Given the description of an element on the screen output the (x, y) to click on. 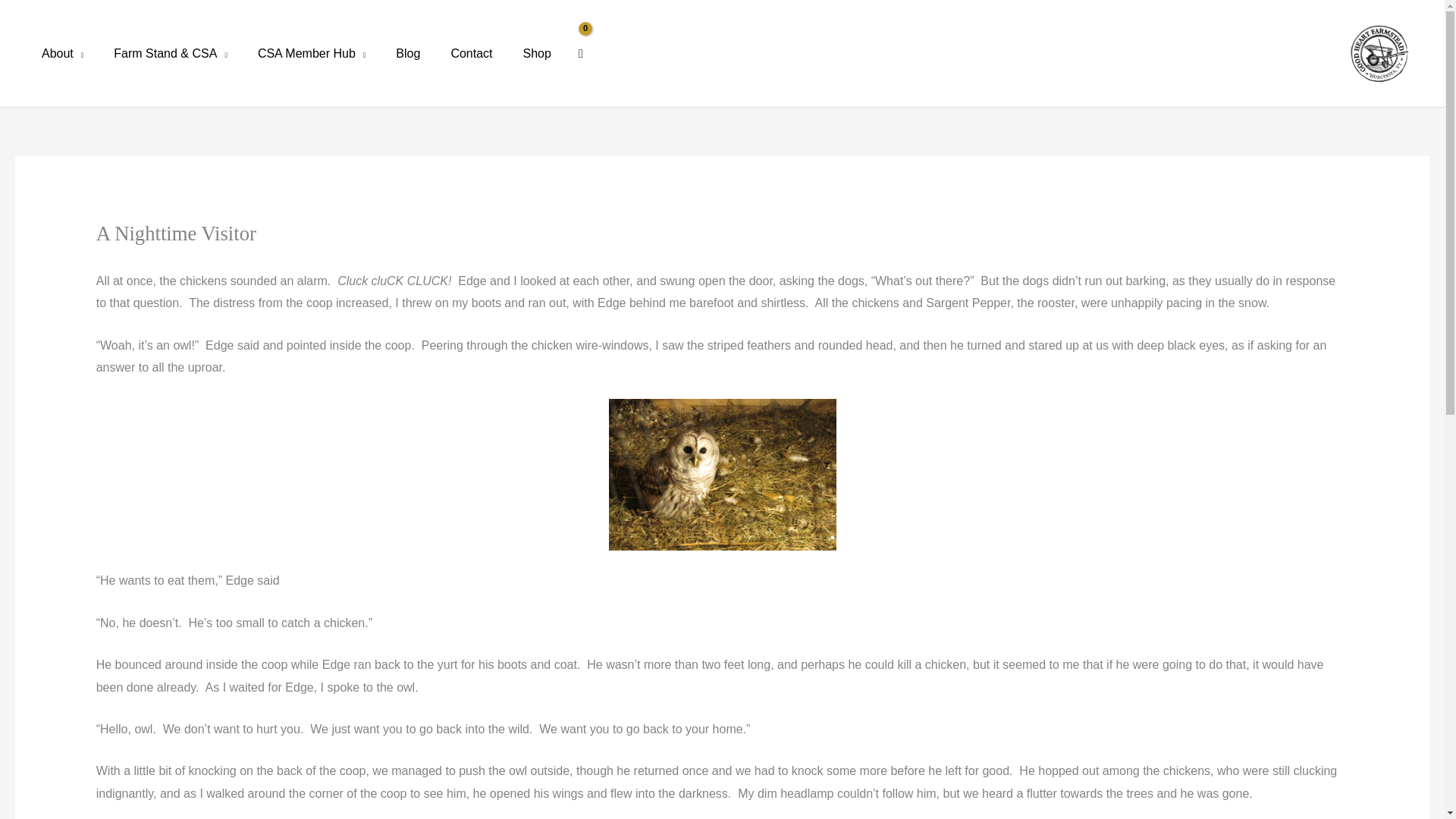
CSA Member Hub (311, 53)
About (62, 53)
Contact (470, 53)
Shop (537, 53)
Blog (407, 53)
